Given the description of an element on the screen output the (x, y) to click on. 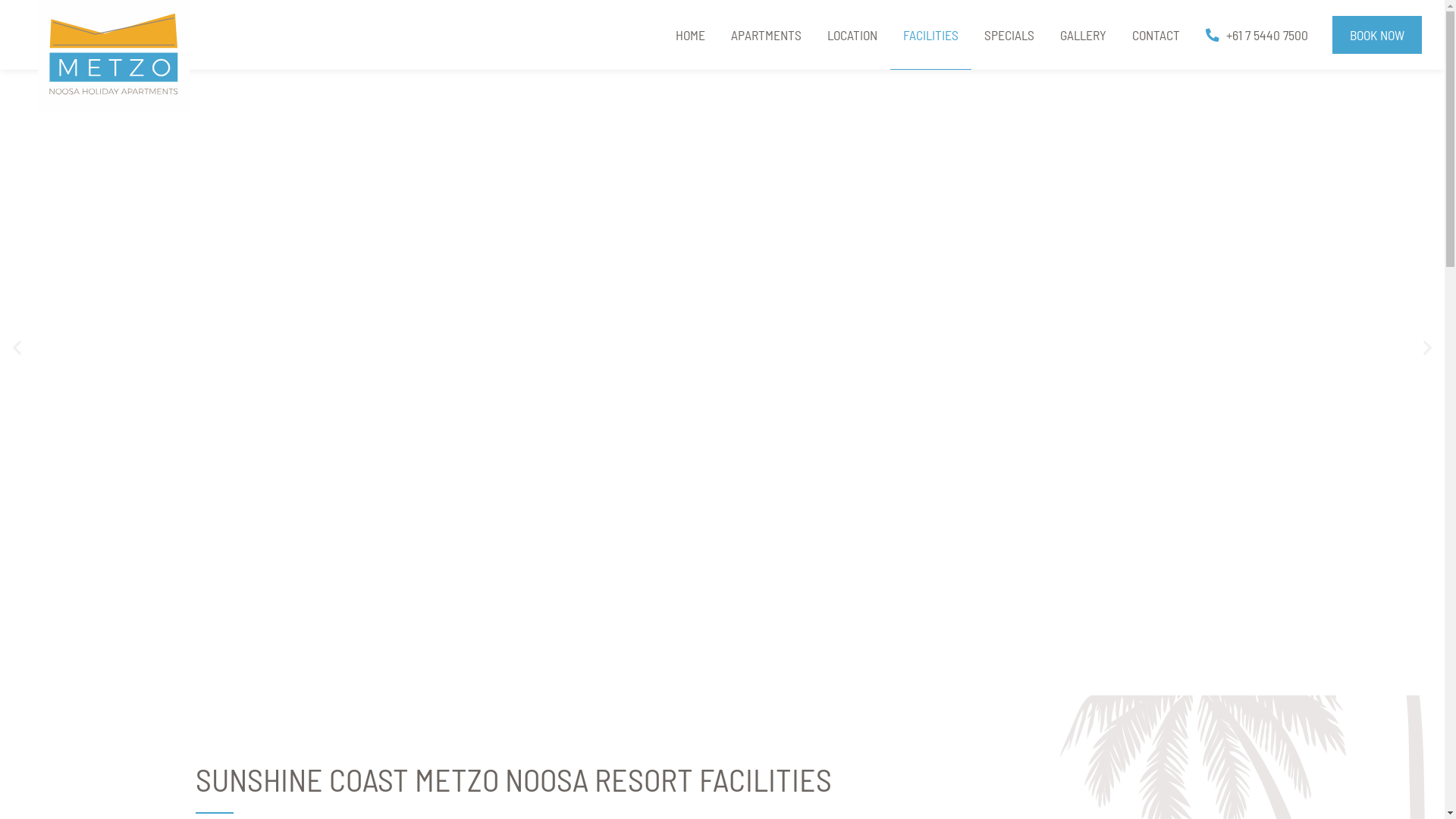
+61 7 5440 7500 Element type: text (1256, 34)
SPECIALS Element type: text (1009, 34)
FACILITIES Element type: text (930, 34)
BOOK NOW Element type: text (1376, 34)
GALLERY Element type: text (1083, 34)
CONTACT Element type: text (1155, 34)
APARTMENTS Element type: text (766, 34)
LOCATION Element type: text (852, 34)
HOME Element type: text (690, 34)
